Given the description of an element on the screen output the (x, y) to click on. 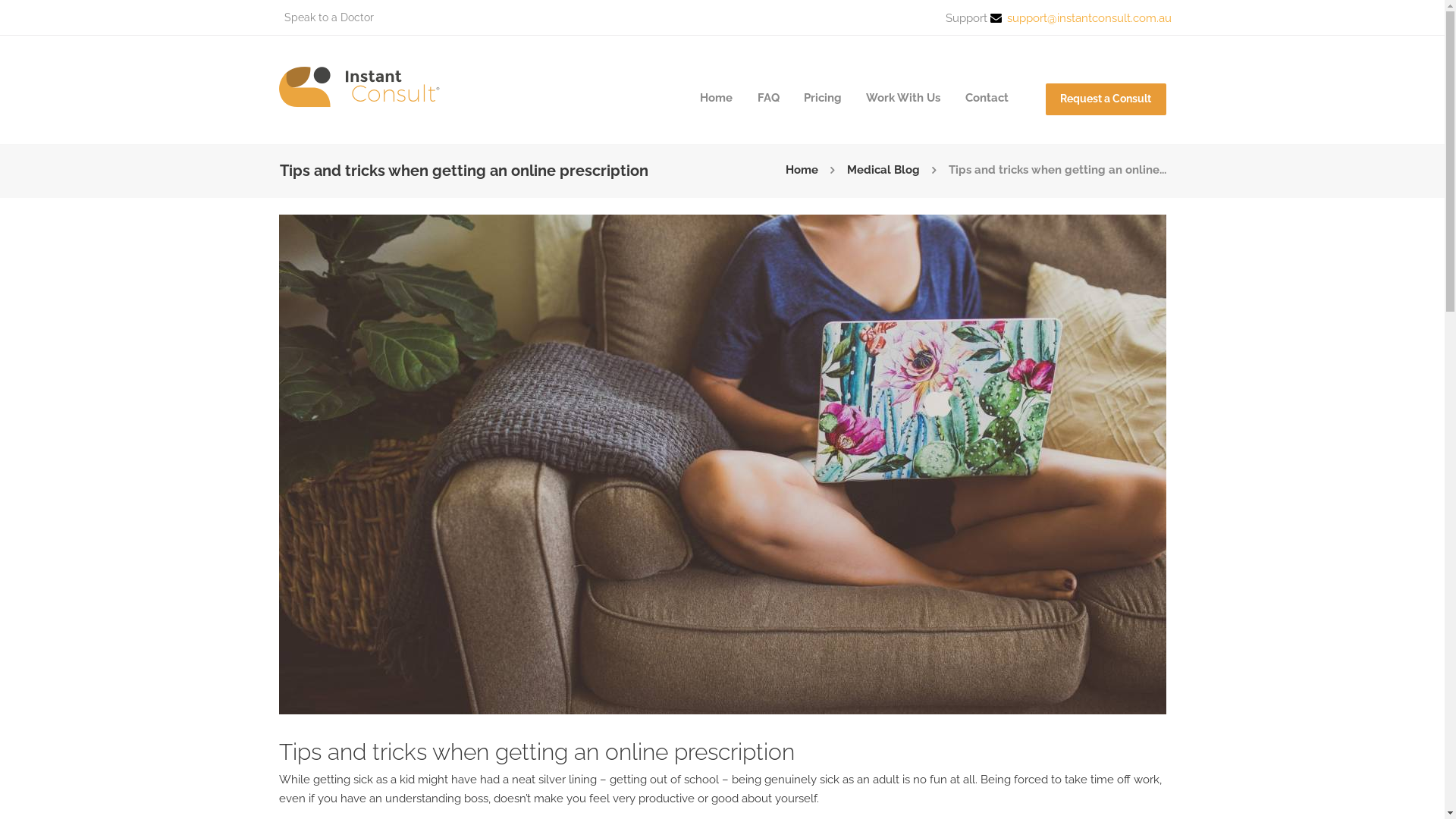
FAQ Element type: text (767, 98)
support@instantconsult.com.au Element type: text (1089, 17)
Tips and tricks when getting an online prescription Element type: hover (722, 464)
Contact Element type: text (985, 98)
Request a Consult Element type: text (1105, 99)
Work With Us Element type: text (902, 98)
Pricing Element type: text (822, 98)
Medical Blog Element type: text (882, 170)
Home Element type: text (715, 98)
Home Element type: text (801, 170)
